Given the description of an element on the screen output the (x, y) to click on. 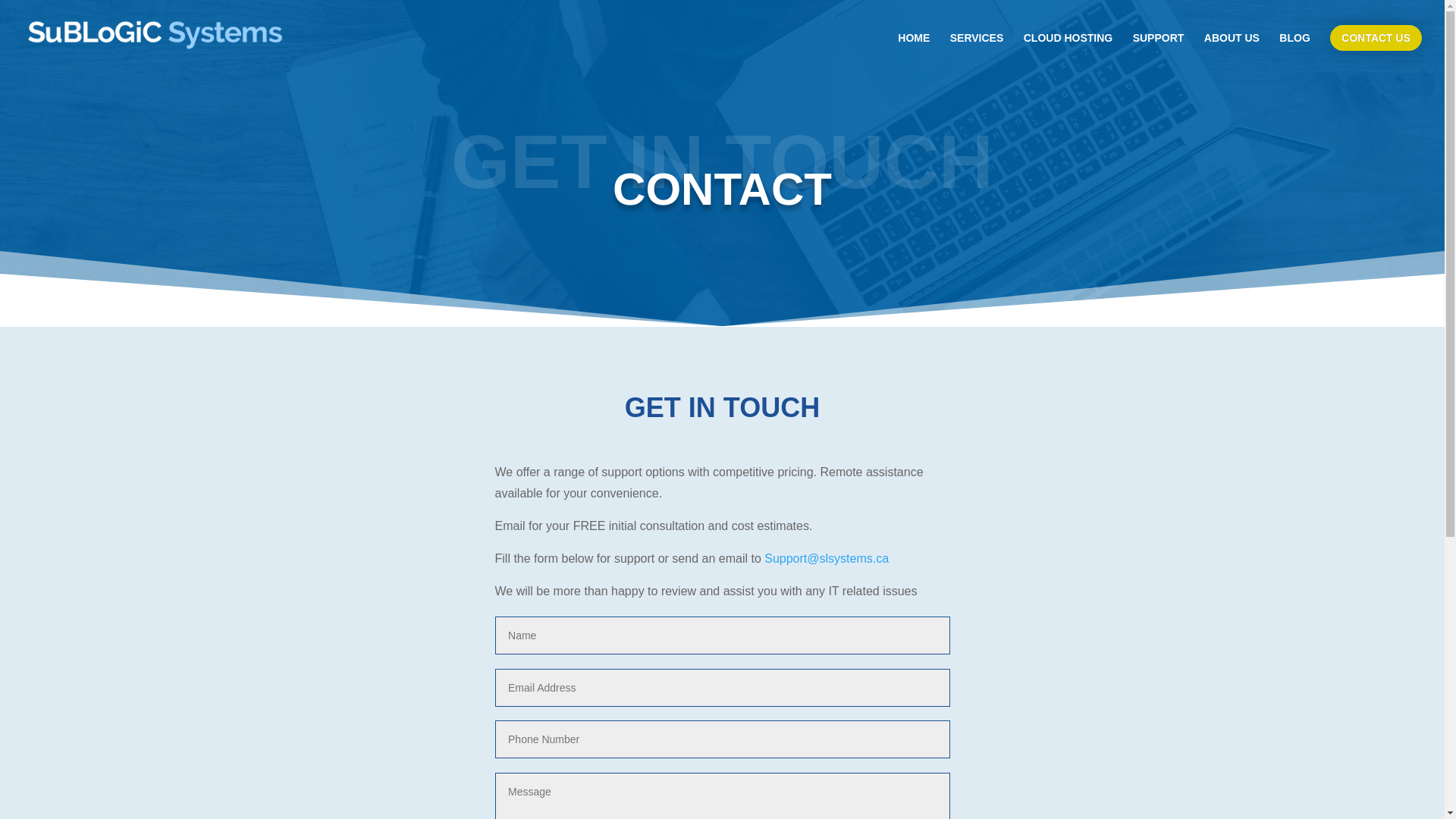
CLOUD HOSTING (1067, 49)
ABOUT US (1231, 49)
SERVICES (977, 49)
HOME (914, 49)
SUPPORT (1158, 49)
CONTACT US (1376, 37)
Only numbers allowed. (722, 739)
